Given the description of an element on the screen output the (x, y) to click on. 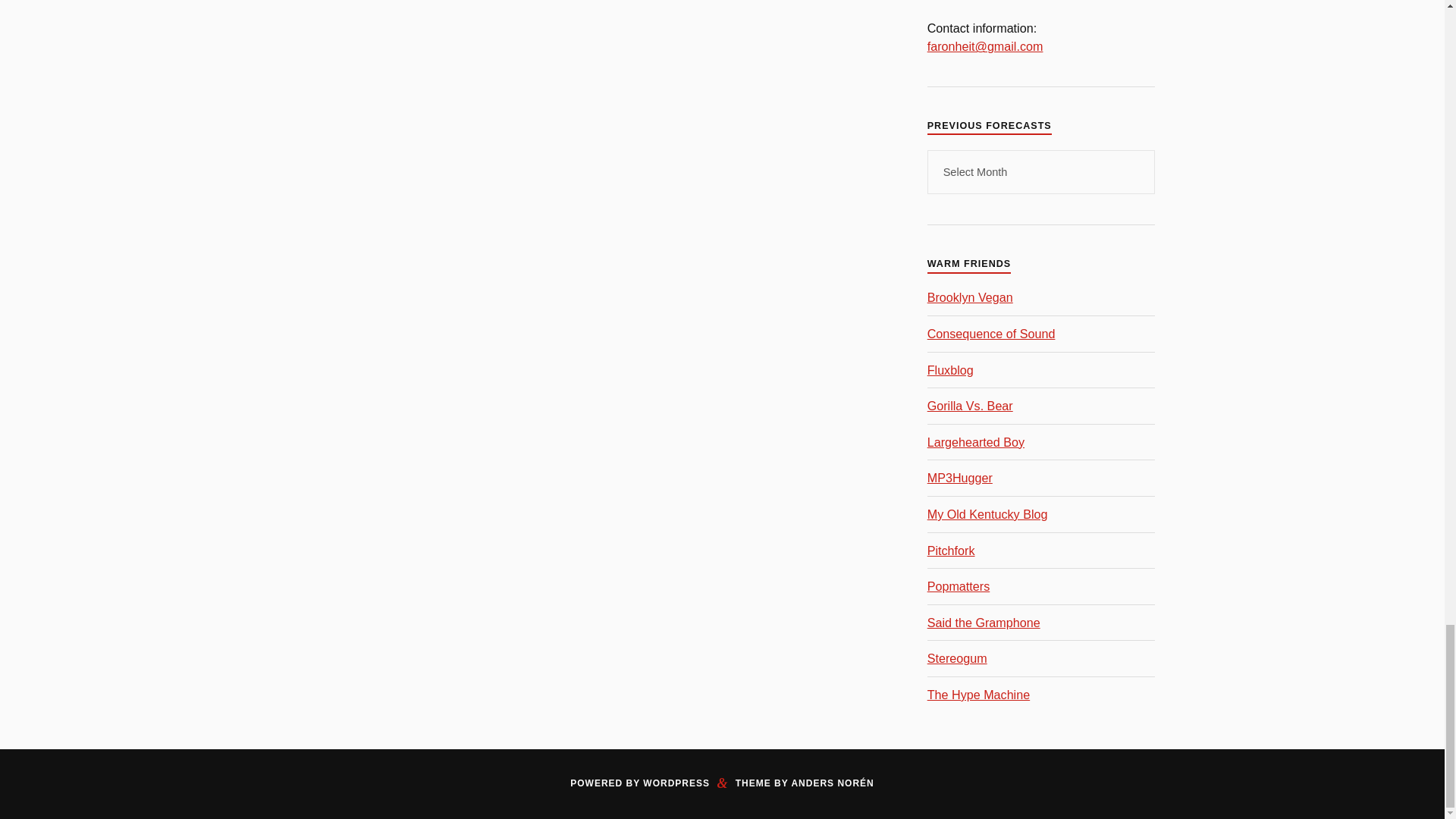
Music news and festival rumors (991, 333)
My goal is to turn him into Brooklyn Meateater (970, 296)
Links and downloads galore (976, 441)
The first-ever music blog (950, 369)
The bear would totally win (970, 405)
